Given the description of an element on the screen output the (x, y) to click on. 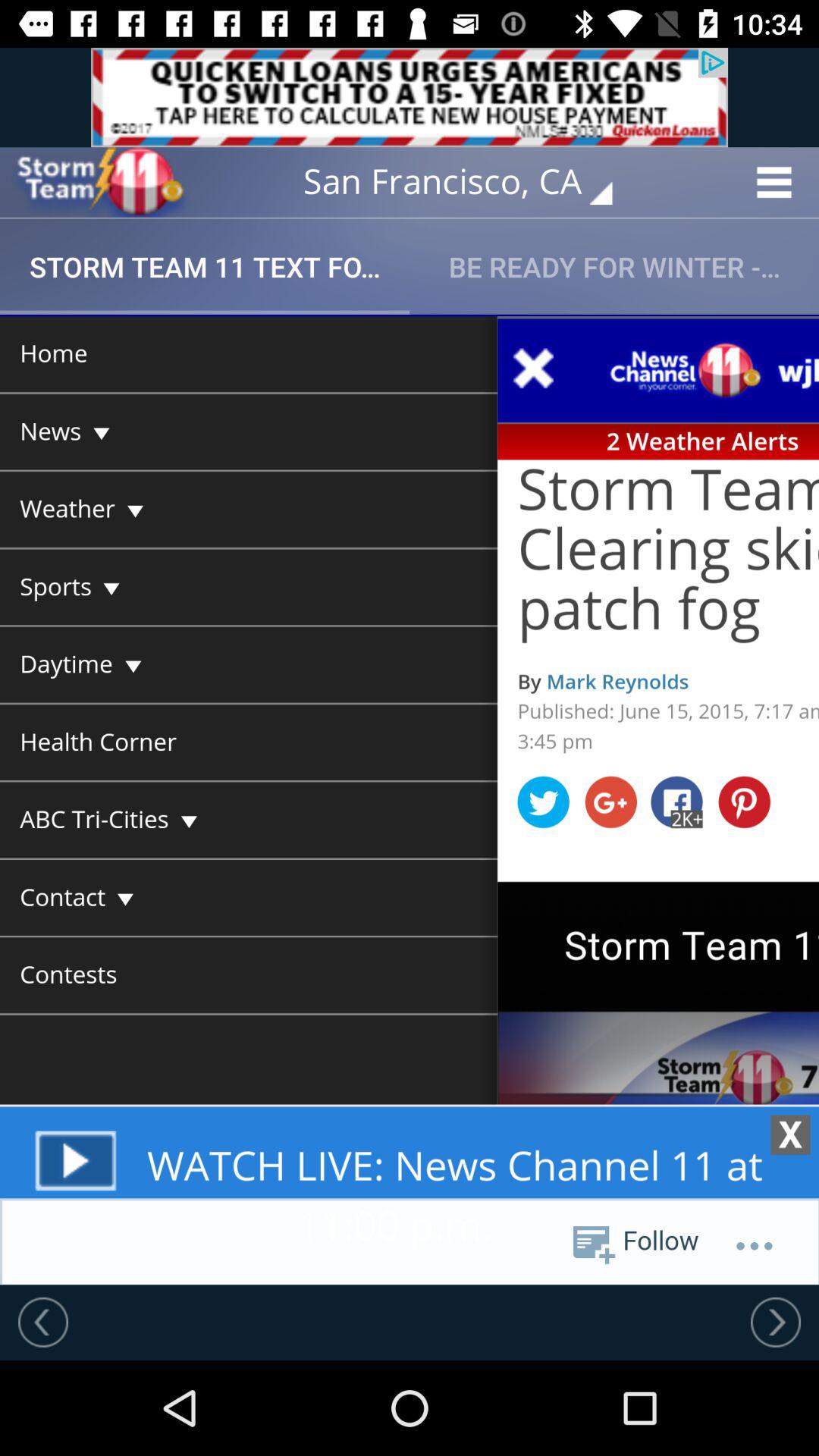
open home page (99, 182)
